Given the description of an element on the screen output the (x, y) to click on. 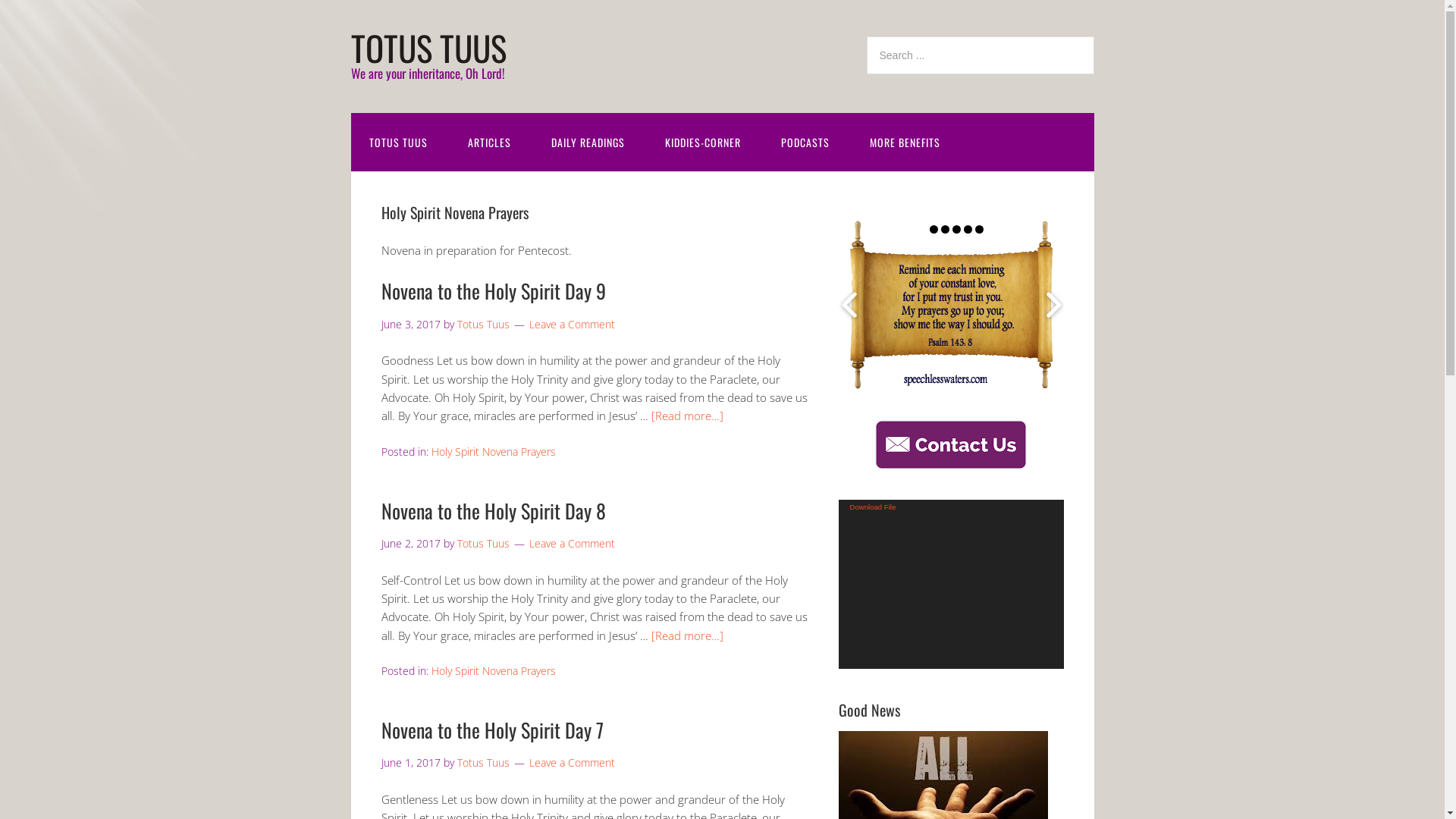
Novena to the Holy Spirit Day 7 Element type: text (491, 729)
Novena to the Holy Spirit Day 8 Element type: text (492, 510)
DAILY READINGS Element type: text (587, 141)
Search for: Element type: hover (979, 55)
Holy Spirit Novena Prayers Element type: text (492, 451)
Leave a Comment Element type: text (572, 762)
TOTUS TUUS Element type: text (427, 46)
Leave a Comment Element type: text (572, 543)
Holy Spirit Novena Prayers Element type: text (492, 670)
TOTUS TUUS Element type: text (397, 141)
KIDDIES-CORNER Element type: text (702, 141)
Totus Tuus Element type: text (482, 543)
ARTICLES Element type: text (488, 141)
Totus Tuus Element type: text (482, 323)
Novena to the Holy Spirit Day 9 Element type: text (492, 290)
Totus Tuus Element type: text (482, 762)
MORE BENEFITS Element type: text (903, 141)
Search Element type: text (1093, 35)
PODCASTS Element type: text (804, 141)
Leave a Comment Element type: text (572, 323)
